Given the description of an element on the screen output the (x, y) to click on. 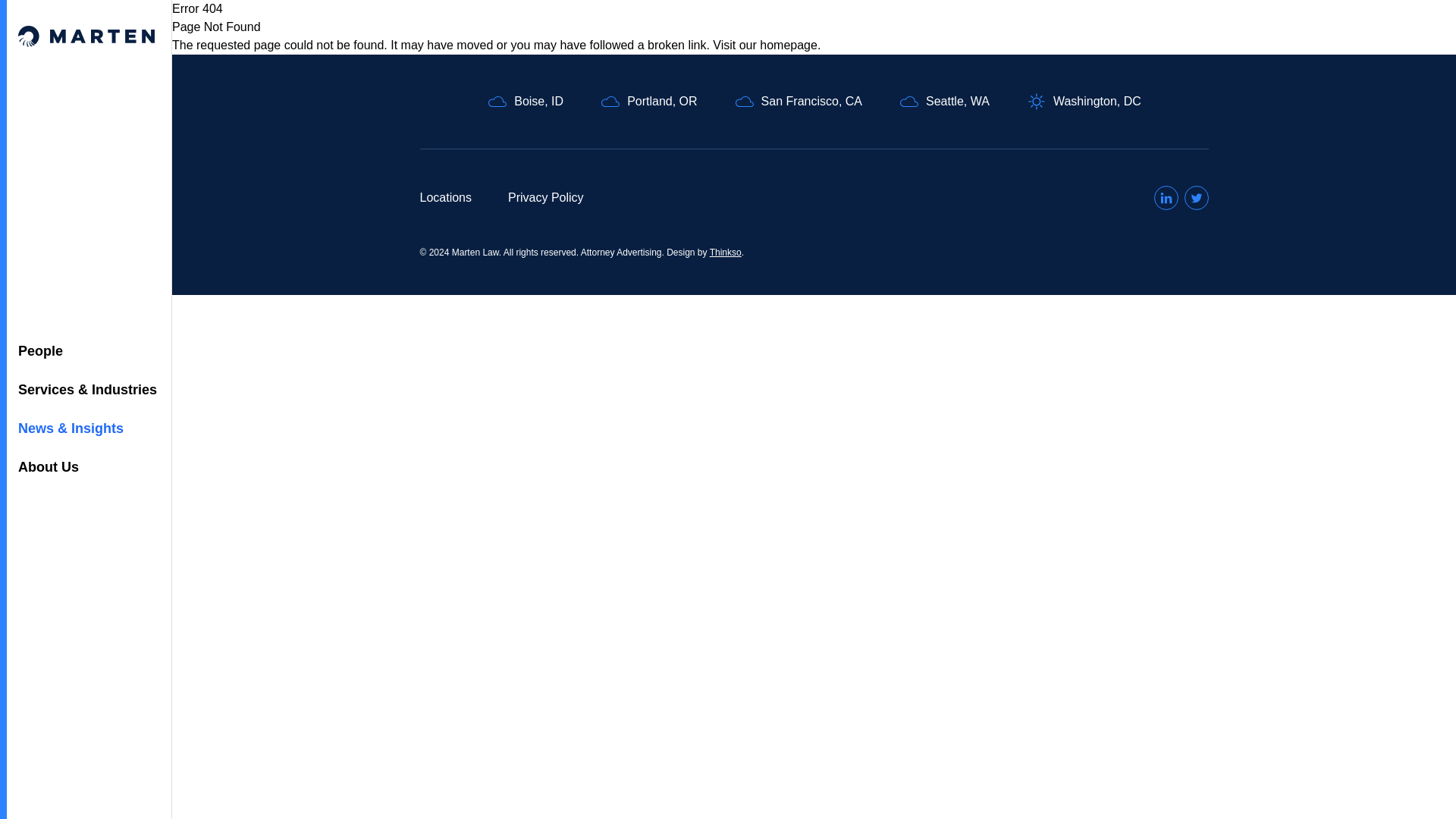
Washington, DC (1083, 101)
About Us (86, 466)
Clouds (744, 101)
Clouds (497, 101)
Clouds (610, 101)
DIVERSITY (1286, 36)
CAREERS (1133, 36)
Visit our homepage (764, 44)
Seattle, WA (944, 101)
Privacy Policy (545, 198)
